Given the description of an element on the screen output the (x, y) to click on. 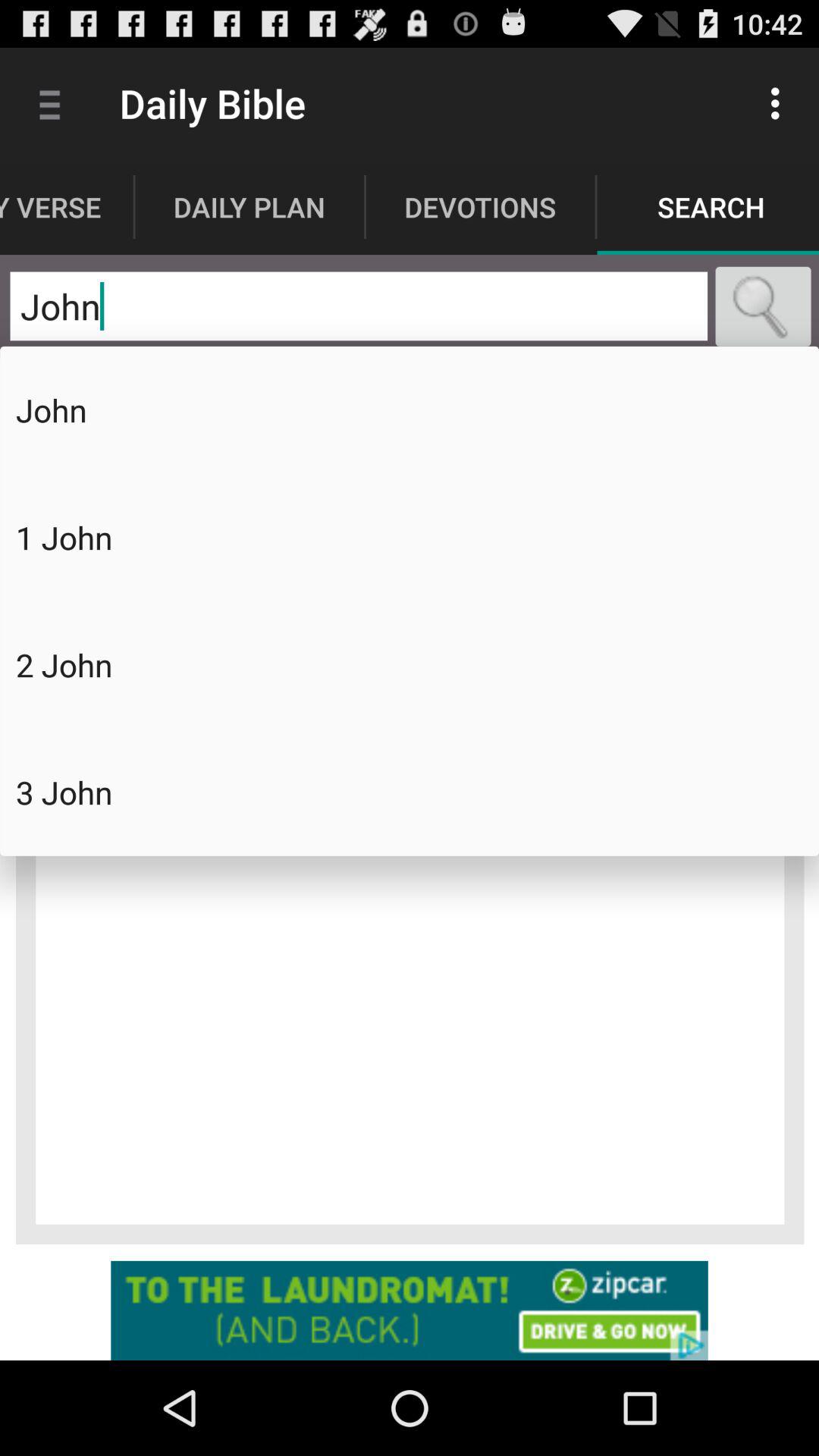
search (763, 306)
